Given the description of an element on the screen output the (x, y) to click on. 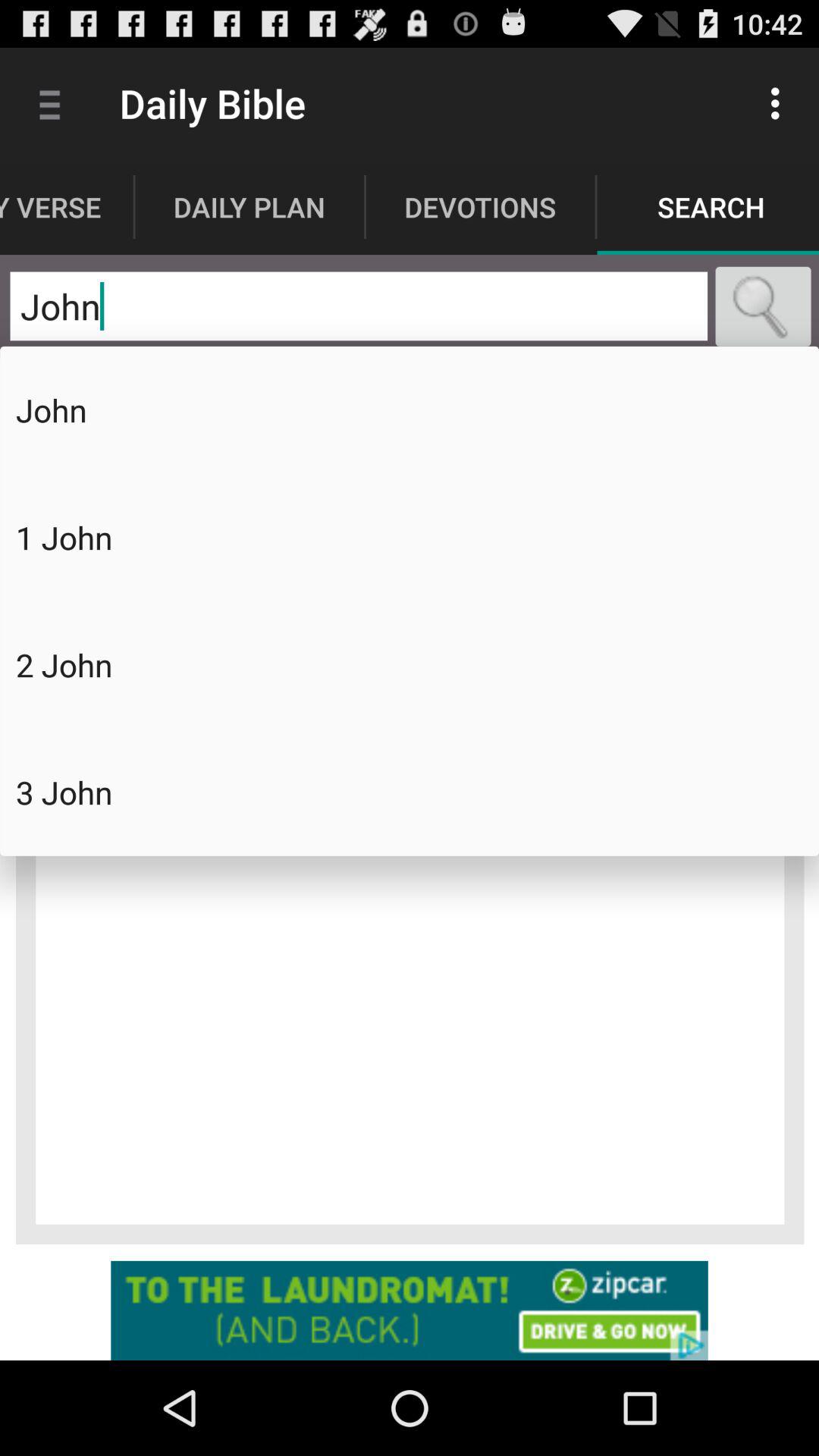
search (763, 306)
